Given the description of an element on the screen output the (x, y) to click on. 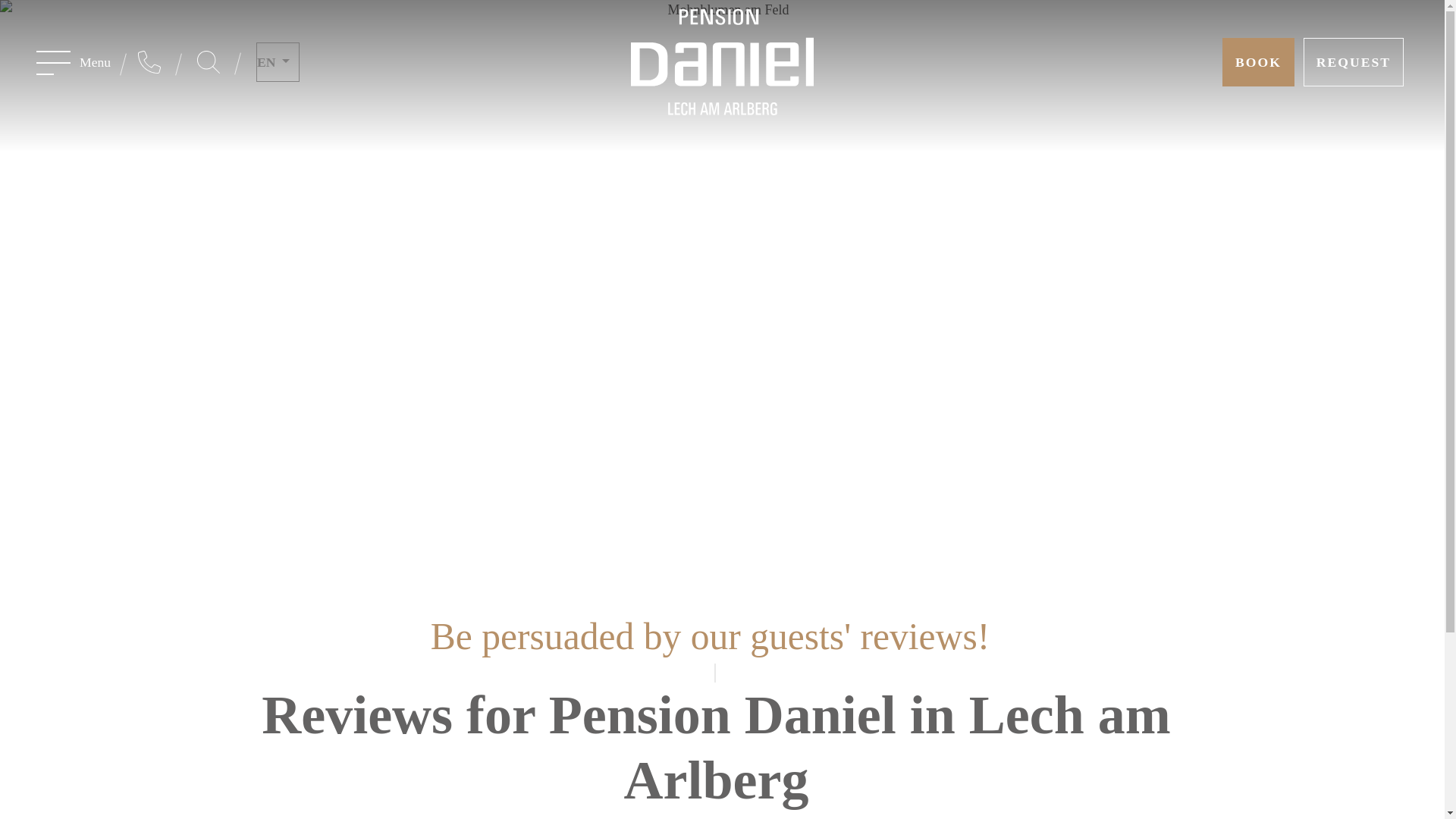
Navigation Toggle (52, 61)
